Given the description of an element on the screen output the (x, y) to click on. 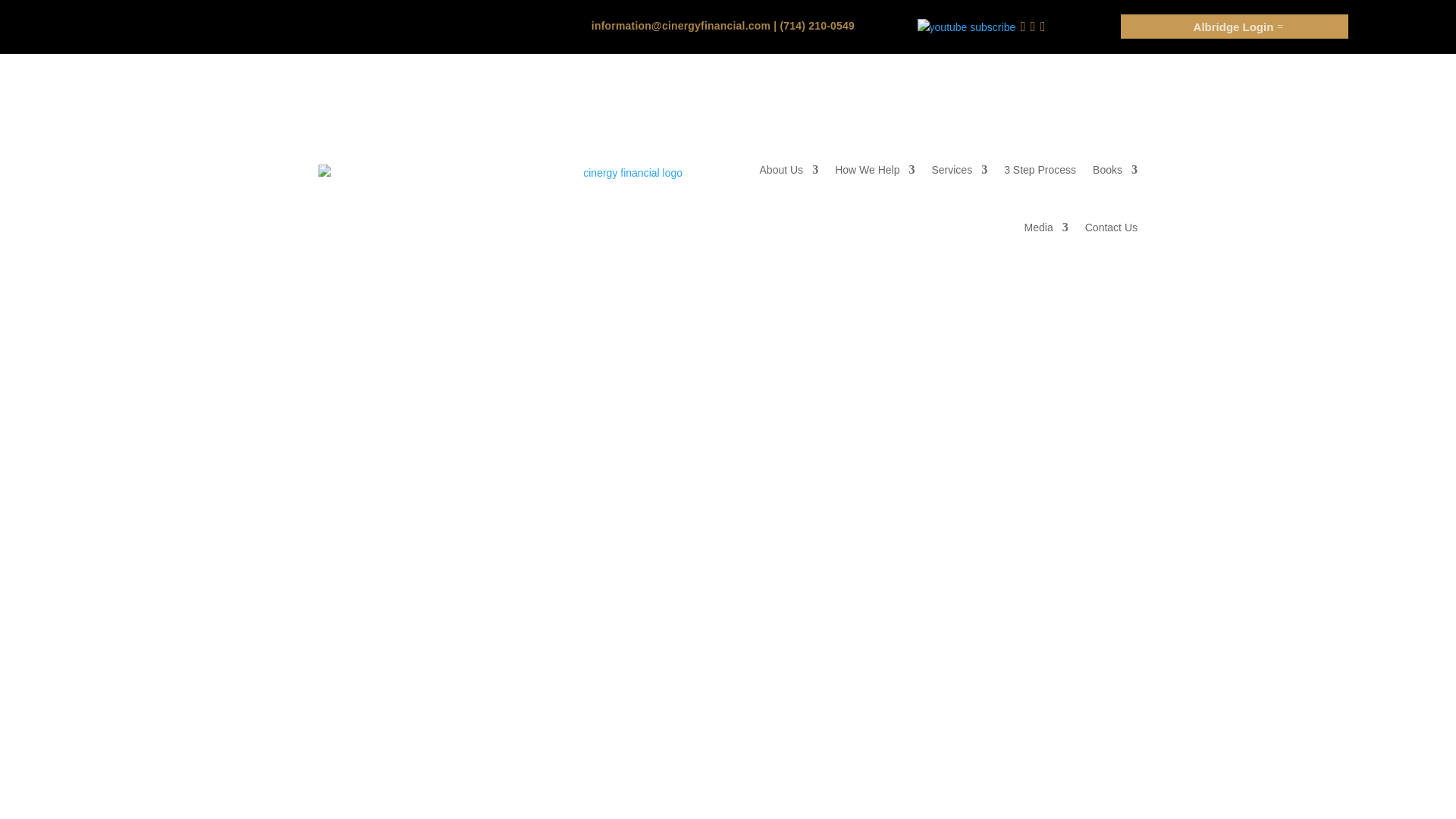
Albridge Login (1235, 26)
How We Help (874, 169)
About Us (789, 169)
youtube-subscribe-top-nav (966, 27)
Services (959, 169)
Contact Us (1110, 227)
3 Step Process (1039, 169)
